Given the description of an element on the screen output the (x, y) to click on. 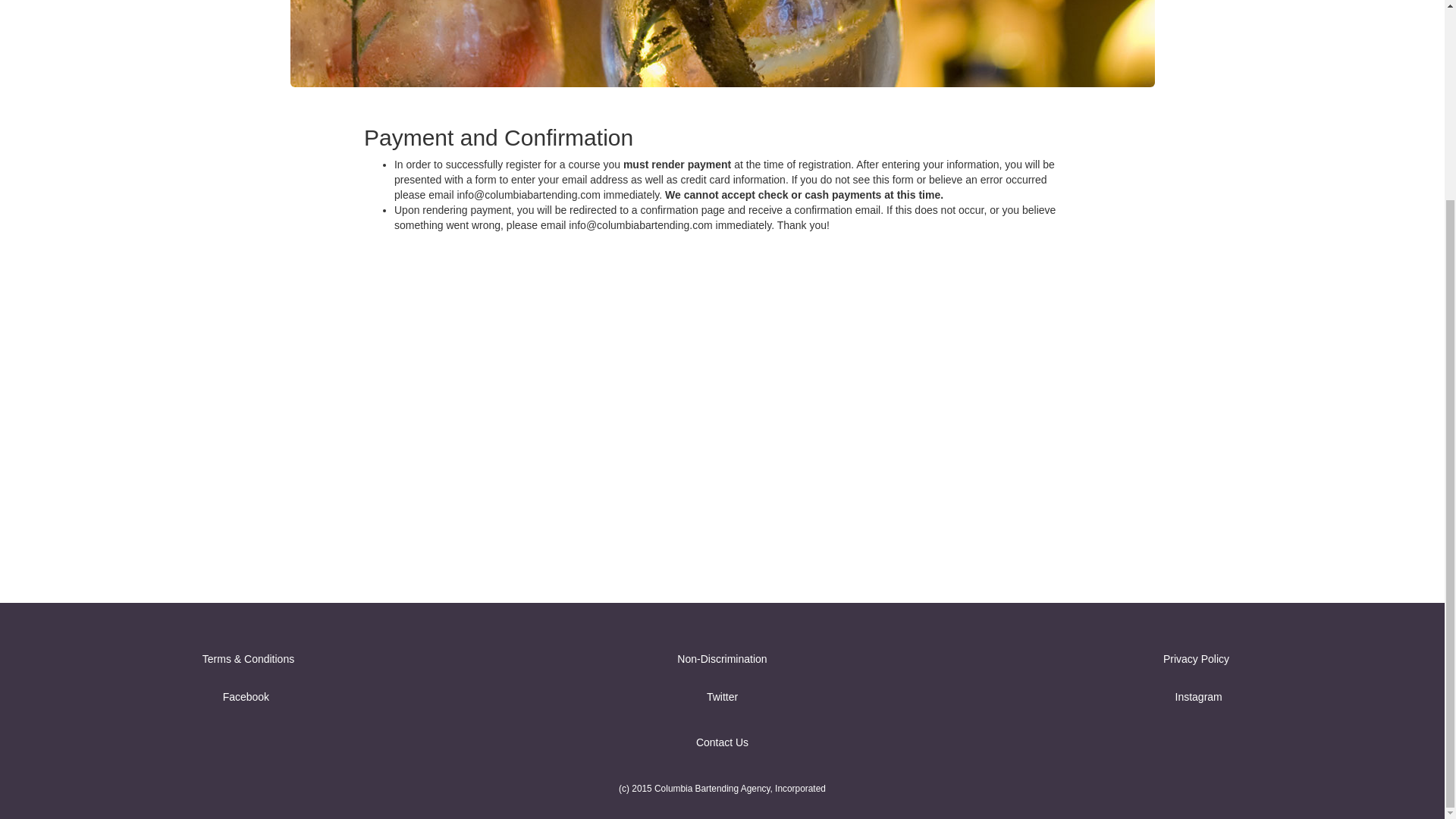
Contact Us (721, 742)
Privacy Policy (1195, 658)
Twitter (722, 696)
Non-Discrimination (722, 658)
Facebook (245, 696)
Instagram (1198, 696)
